Given the description of an element on the screen output the (x, y) to click on. 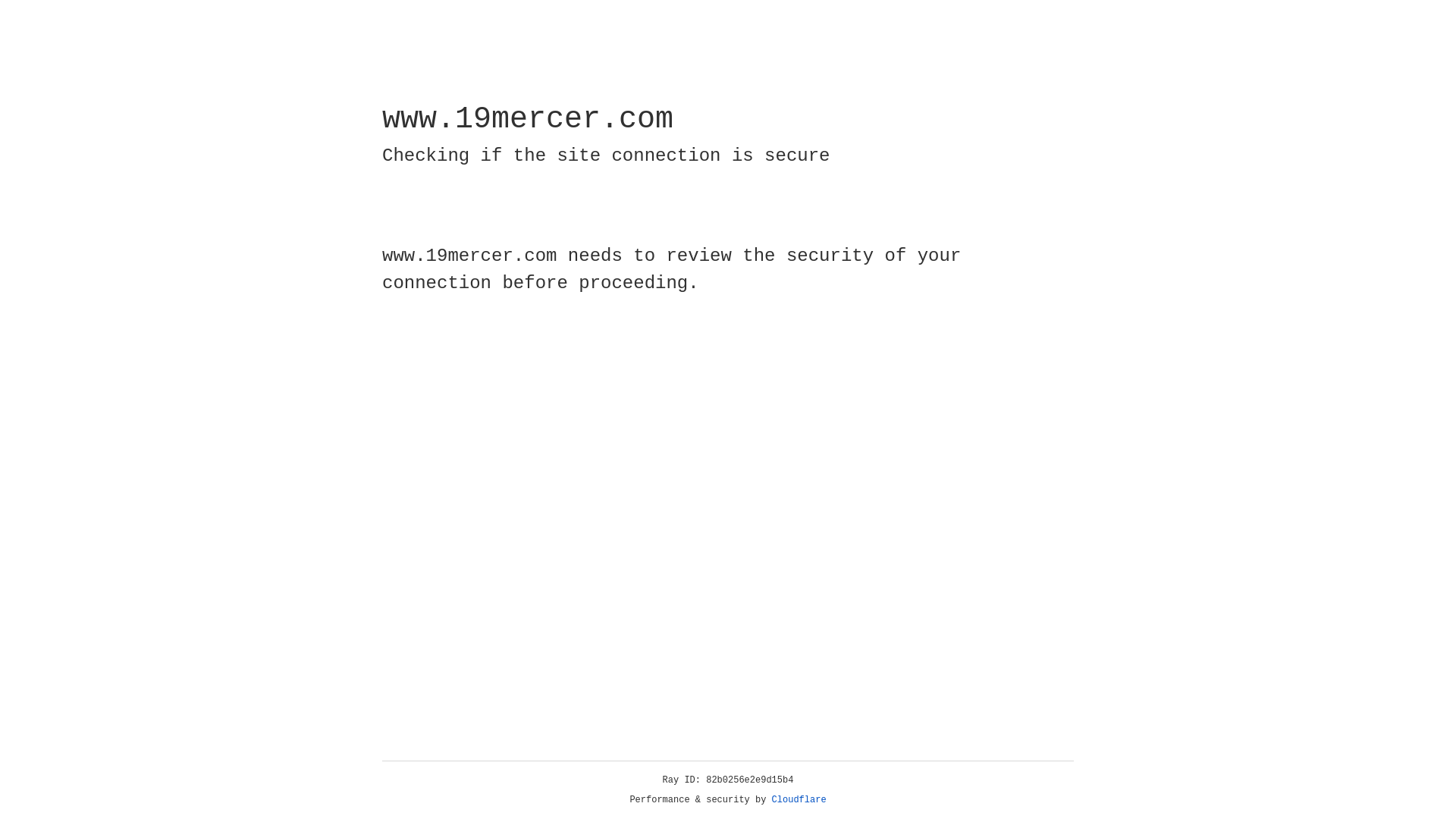
Cloudflare Element type: text (798, 799)
